Given the description of an element on the screen output the (x, y) to click on. 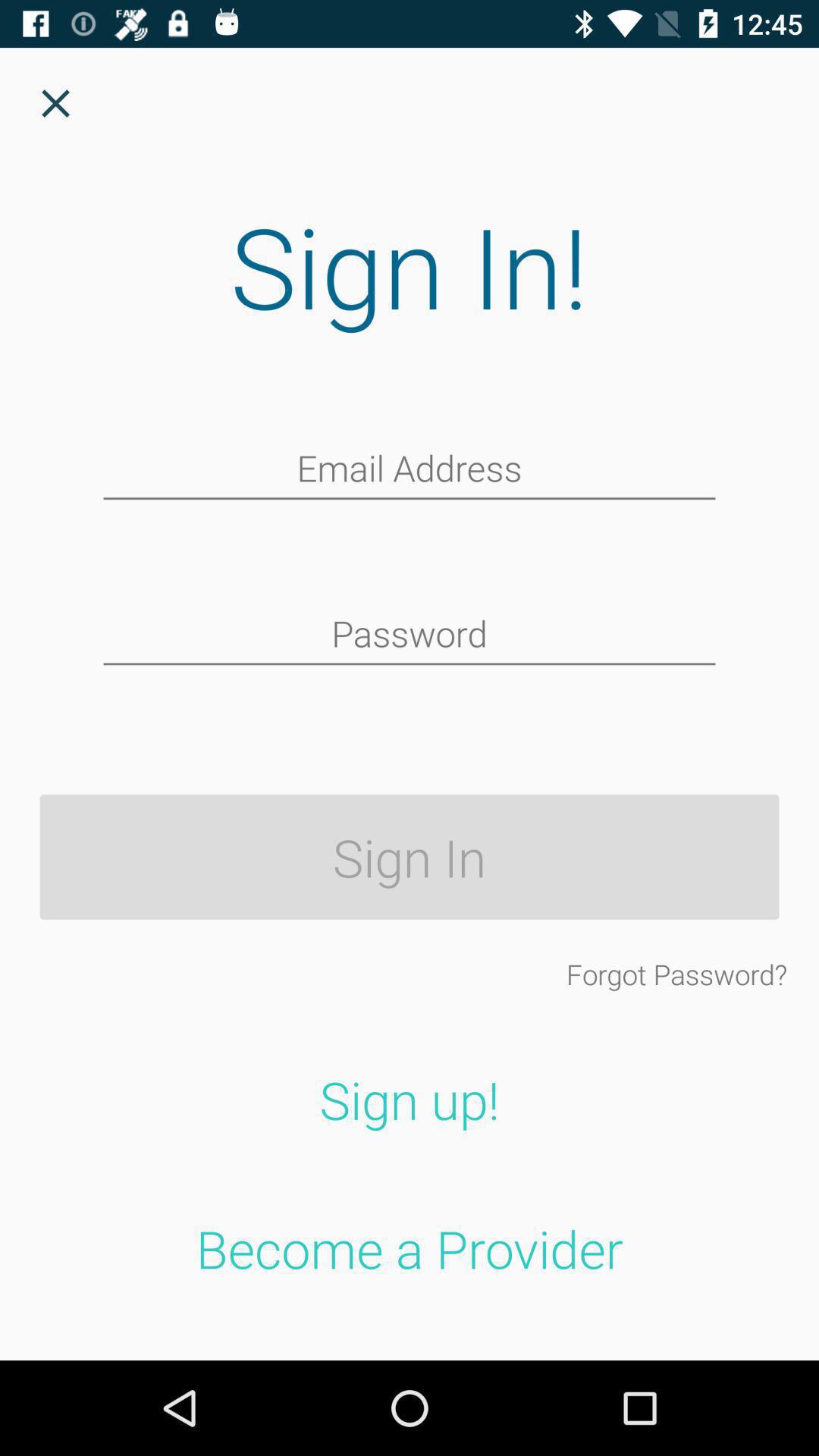
swipe until forgot password? item (676, 974)
